Given the description of an element on the screen output the (x, y) to click on. 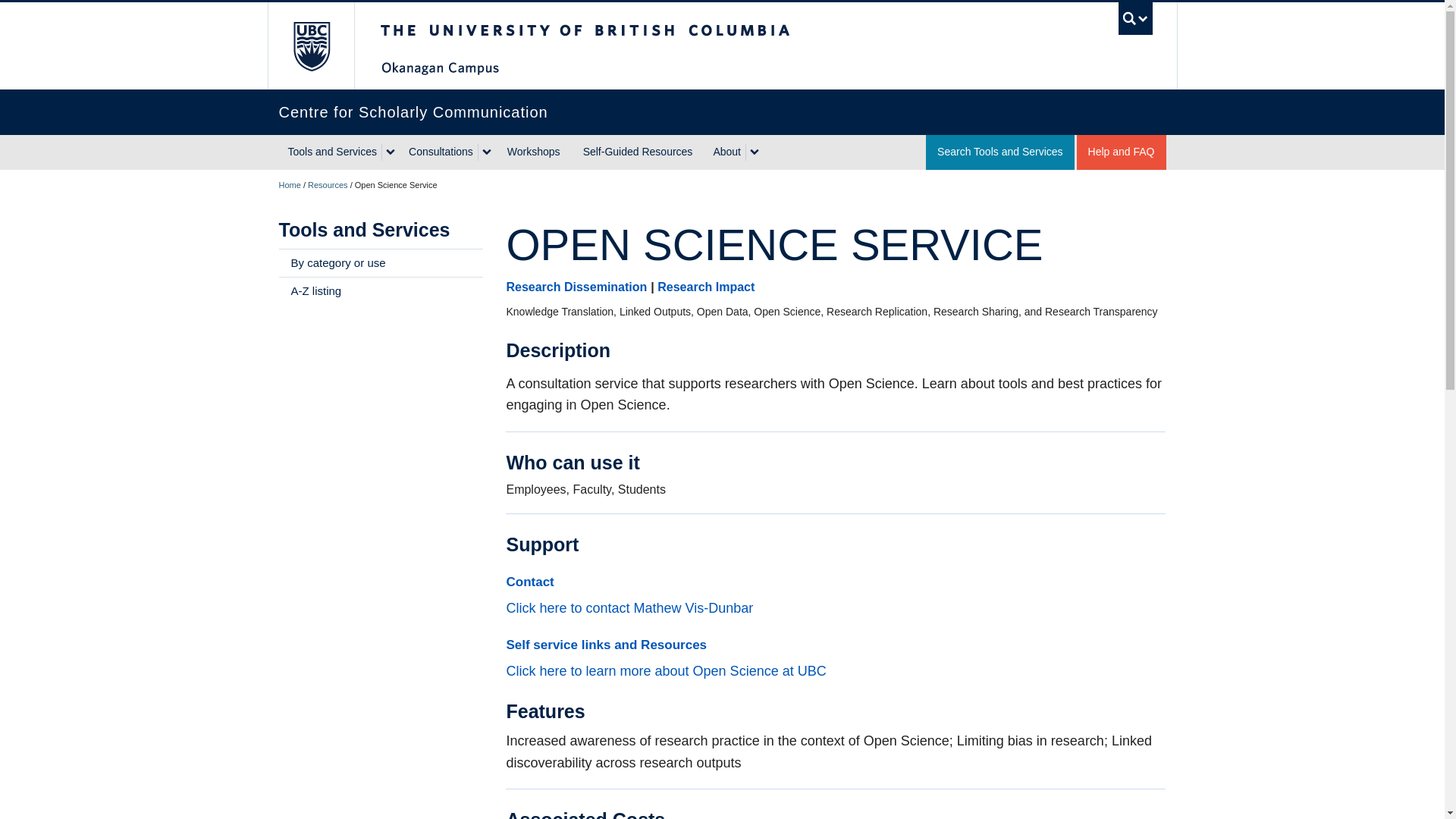
Search Tools and Services (1000, 151)
Self-Guided Resources (638, 151)
Resources (327, 184)
About (724, 151)
UBC Search (1135, 18)
Help and FAQ (1121, 151)
Centre for Scholarly Communication (290, 184)
The University of British Columbia (635, 45)
Tools and Services (330, 151)
Centre for Scholarly Communication (722, 112)
Centre for Scholarly Communication (722, 112)
Consultations (438, 151)
The University of British Columbia (309, 45)
Workshops (534, 151)
